Given the description of an element on the screen output the (x, y) to click on. 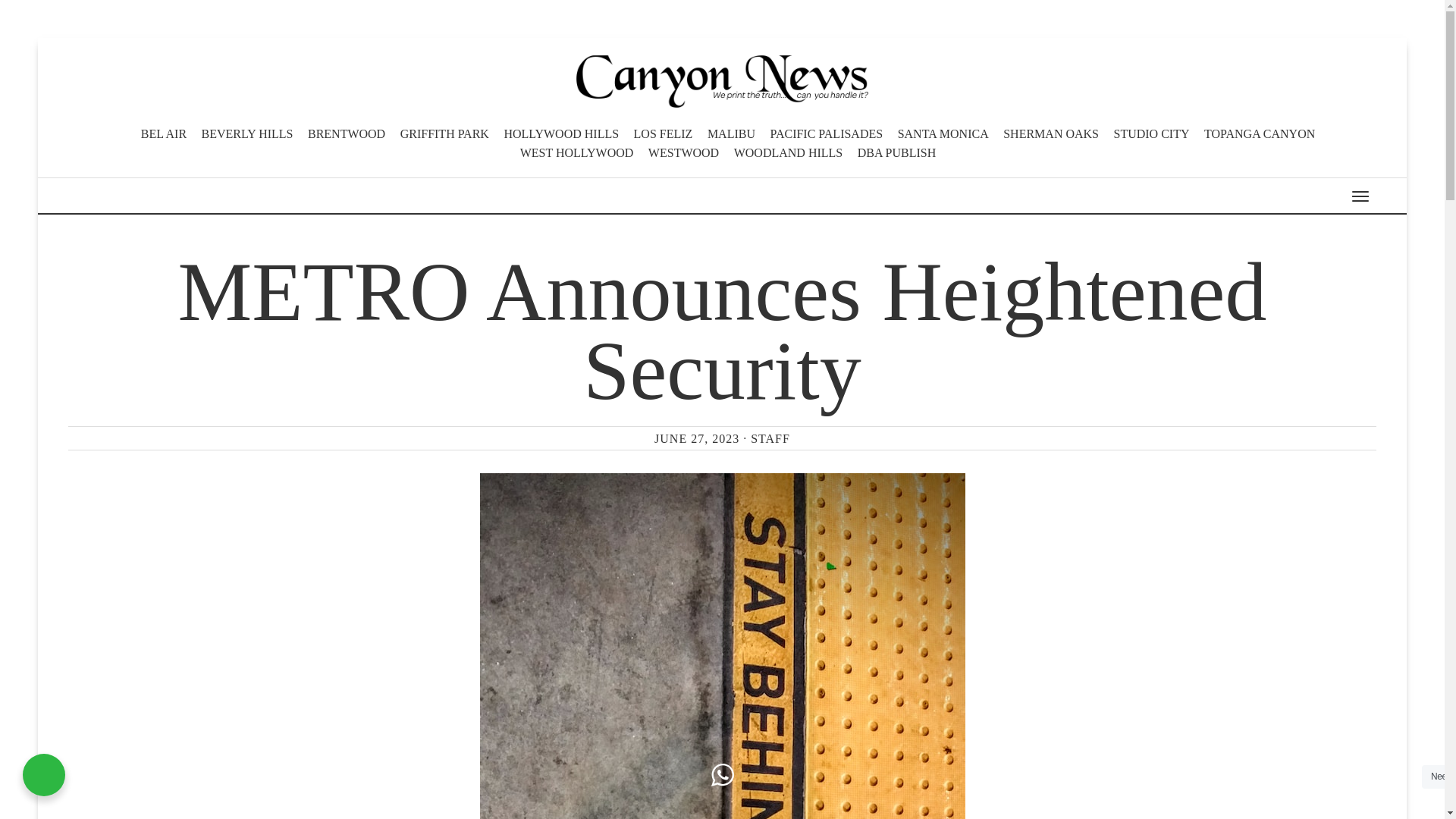
HOLLYWOOD HILLS (560, 133)
BEVERLY HILLS (248, 133)
SANTA MONICA (943, 133)
GRIFFITH PARK (444, 133)
BRENTWOOD (346, 133)
WESTWOOD (683, 152)
MALIBU (731, 133)
STUDIO CITY (1151, 133)
WOODLAND HILLS (788, 152)
SHERMAN OAKS (1051, 133)
WEST HOLLYWOOD (576, 152)
PACIFIC PALISADES (826, 133)
TOPANGA CANYON (1259, 133)
STAFF (770, 438)
LOS FELIZ (663, 133)
